Given the description of an element on the screen output the (x, y) to click on. 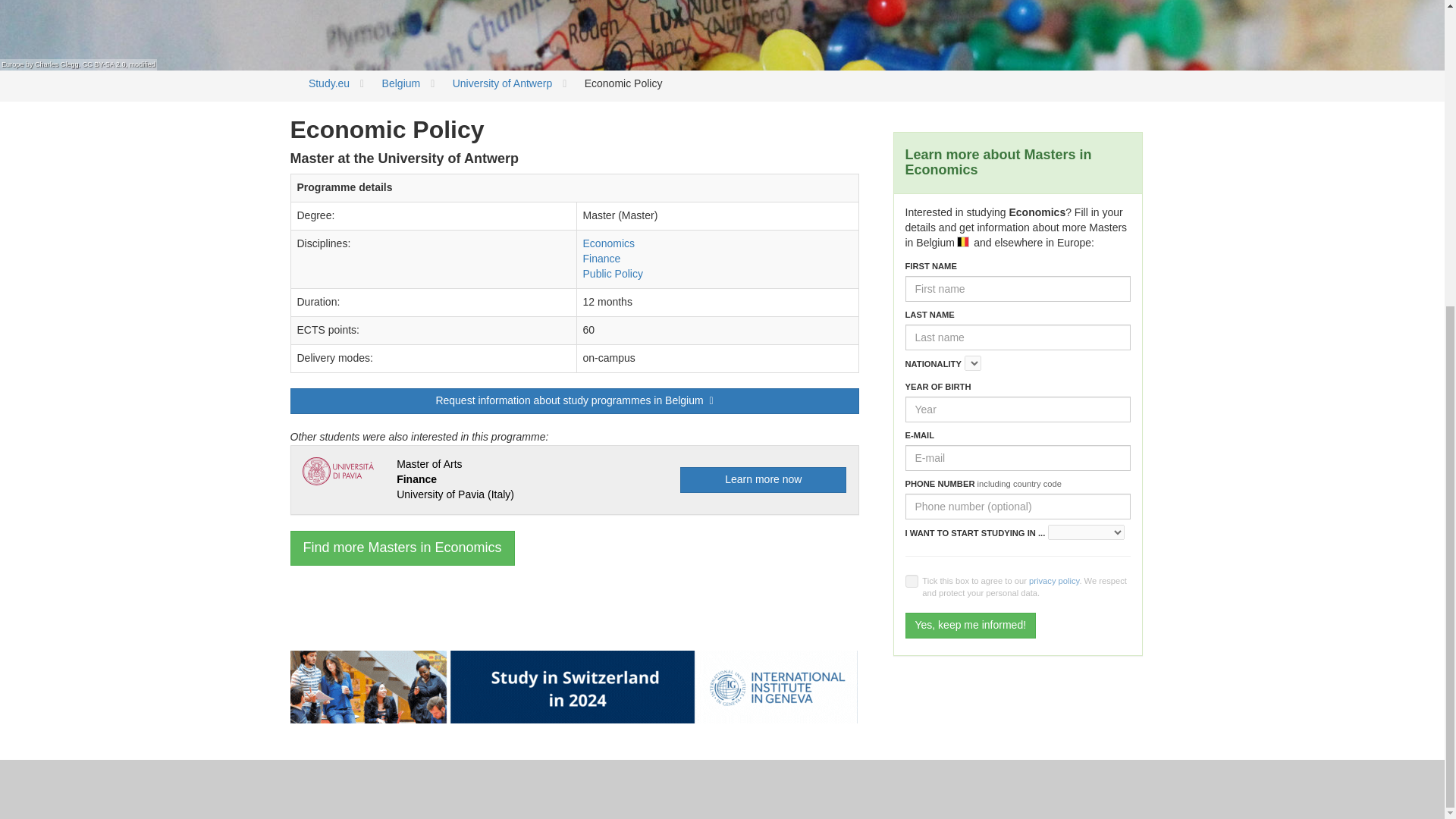
Study Finance at University of Pavia (454, 478)
Learn more now (762, 479)
CC BY-SA 2.0 (103, 63)
Europe (12, 63)
Study.eu (328, 82)
Belgium - Flag (962, 241)
Find more Masters in Finance (602, 258)
Find more Masters in Economics (608, 243)
Find more Masters in Economics (401, 547)
Belgium (400, 82)
Find more Masters in Public Policy (613, 273)
Economics (608, 243)
Find more Masters in Economics (401, 547)
University of Antwerp (502, 82)
Public Policy (613, 273)
